Given the description of an element on the screen output the (x, y) to click on. 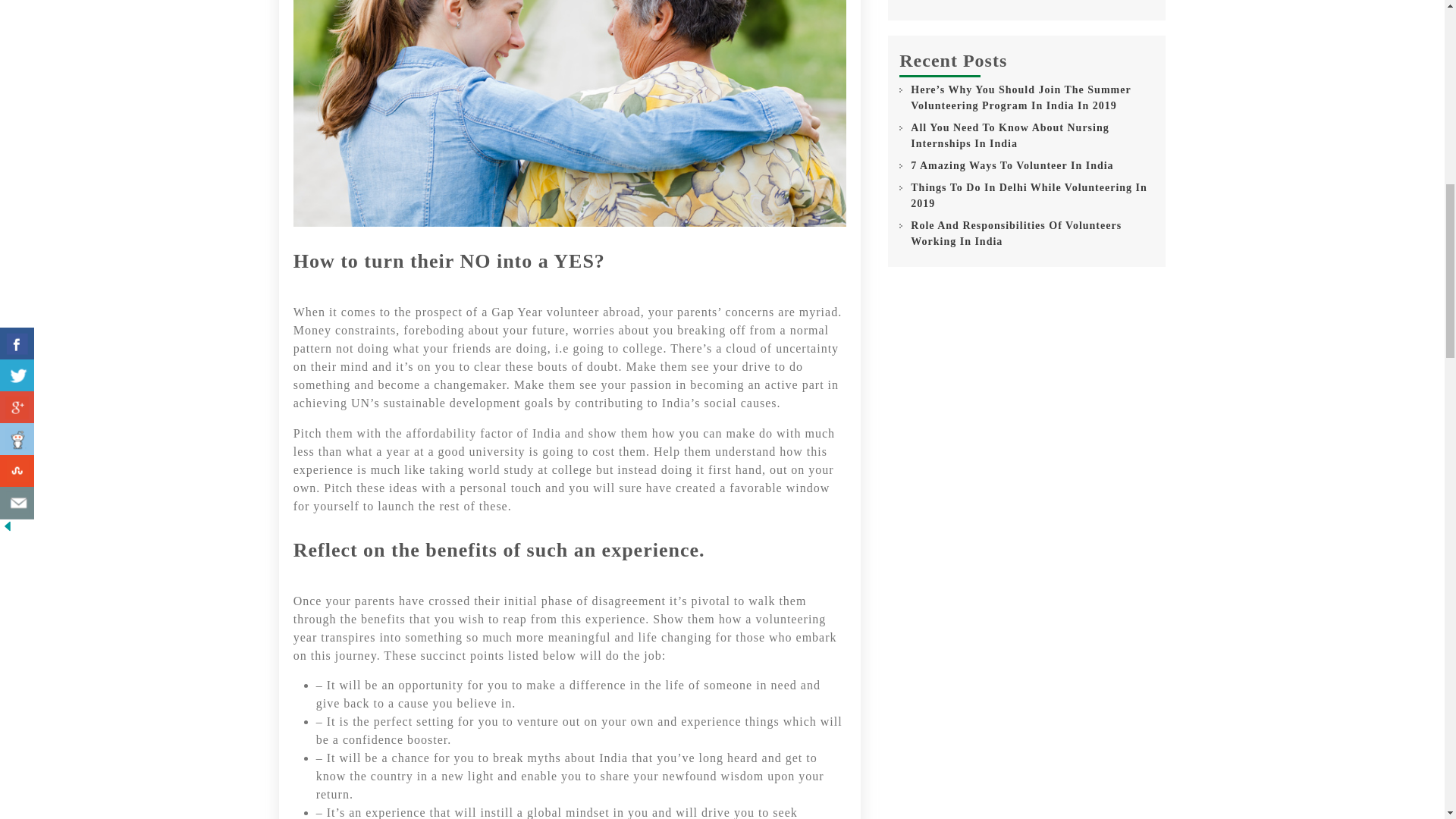
All You Need To Know About Nursing Internships In India (1032, 135)
Contact Us (940, 1)
7 Amazing Ways To Volunteer In India (1012, 165)
